Given the description of an element on the screen output the (x, y) to click on. 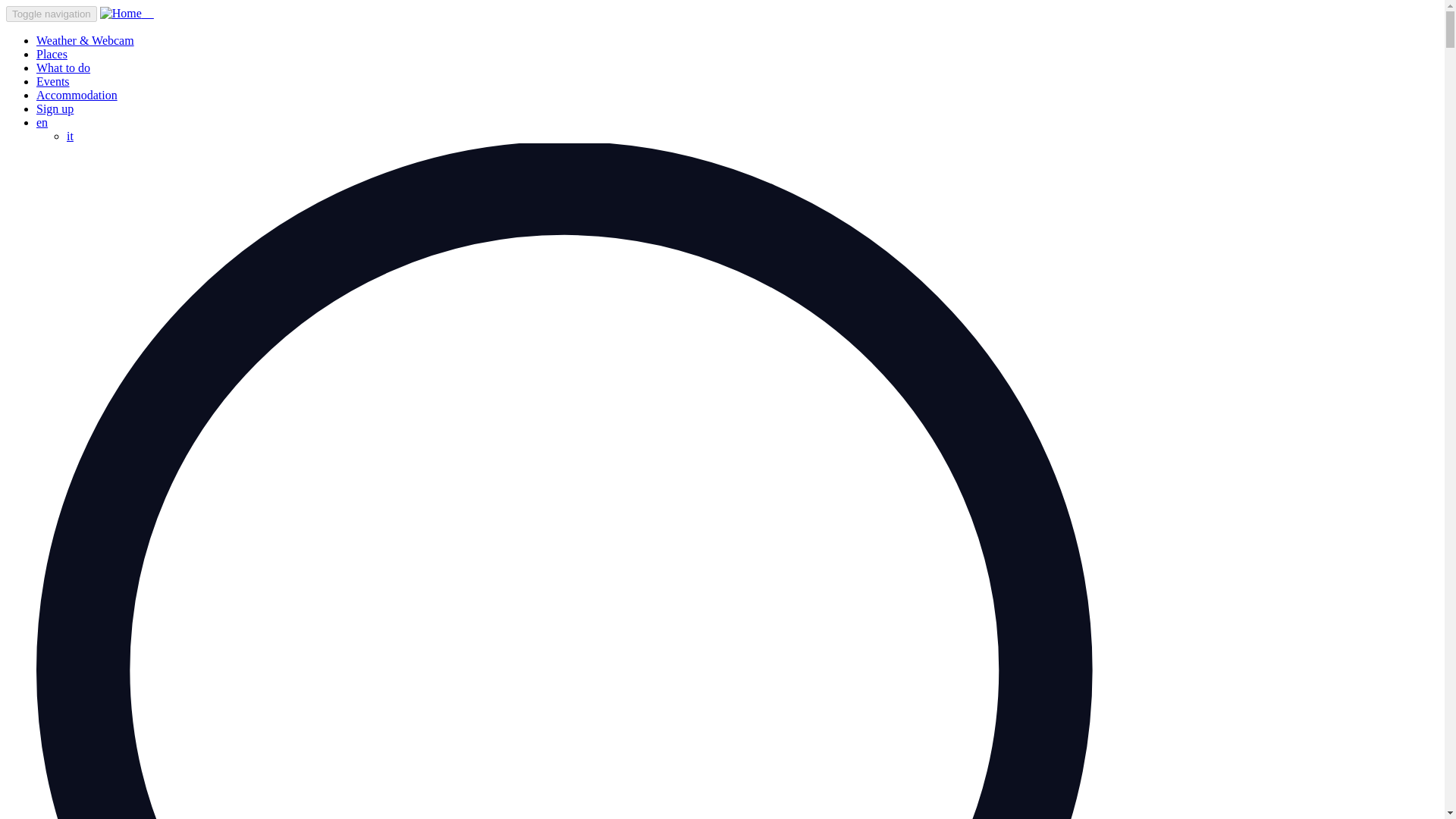
Places (51, 53)
Sign up (55, 108)
What to do (63, 67)
Toggle navigation (51, 13)
Events (52, 81)
Accommodation (76, 94)
Home (127, 12)
